Given the description of an element on the screen output the (x, y) to click on. 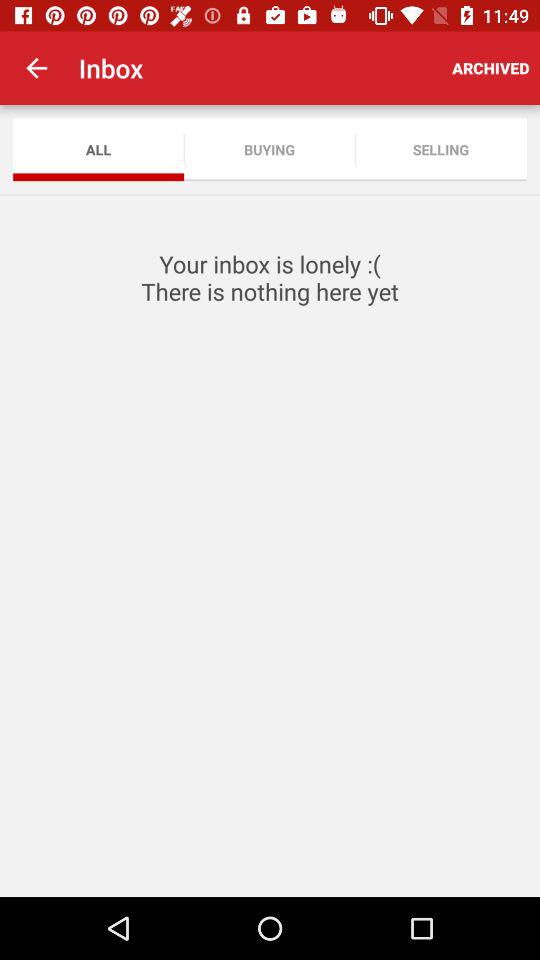
swipe until buying app (269, 149)
